Given the description of an element on the screen output the (x, y) to click on. 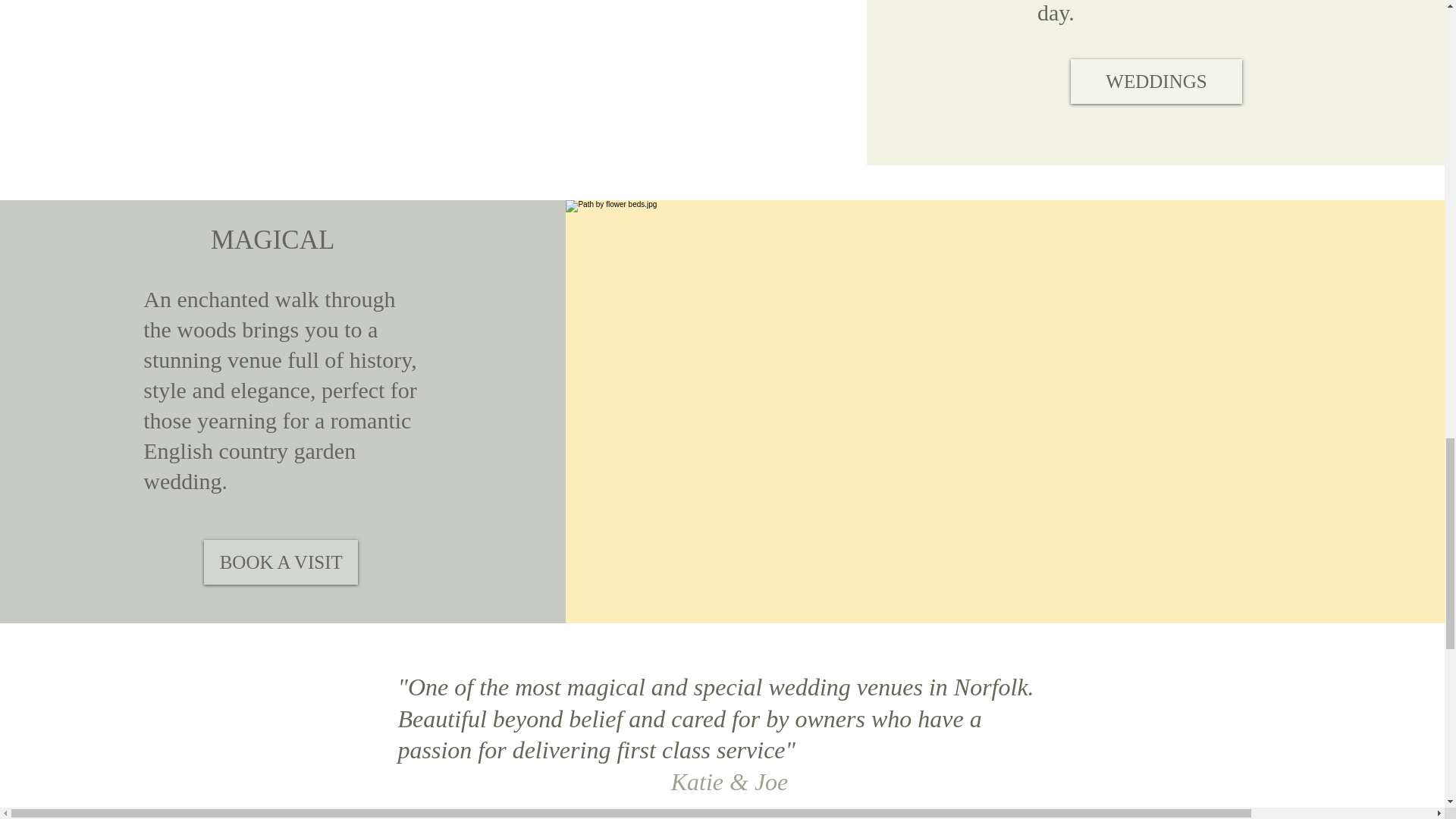
BOOK A VISIT (280, 561)
WEDDINGS (1155, 81)
